Given the description of an element on the screen output the (x, y) to click on. 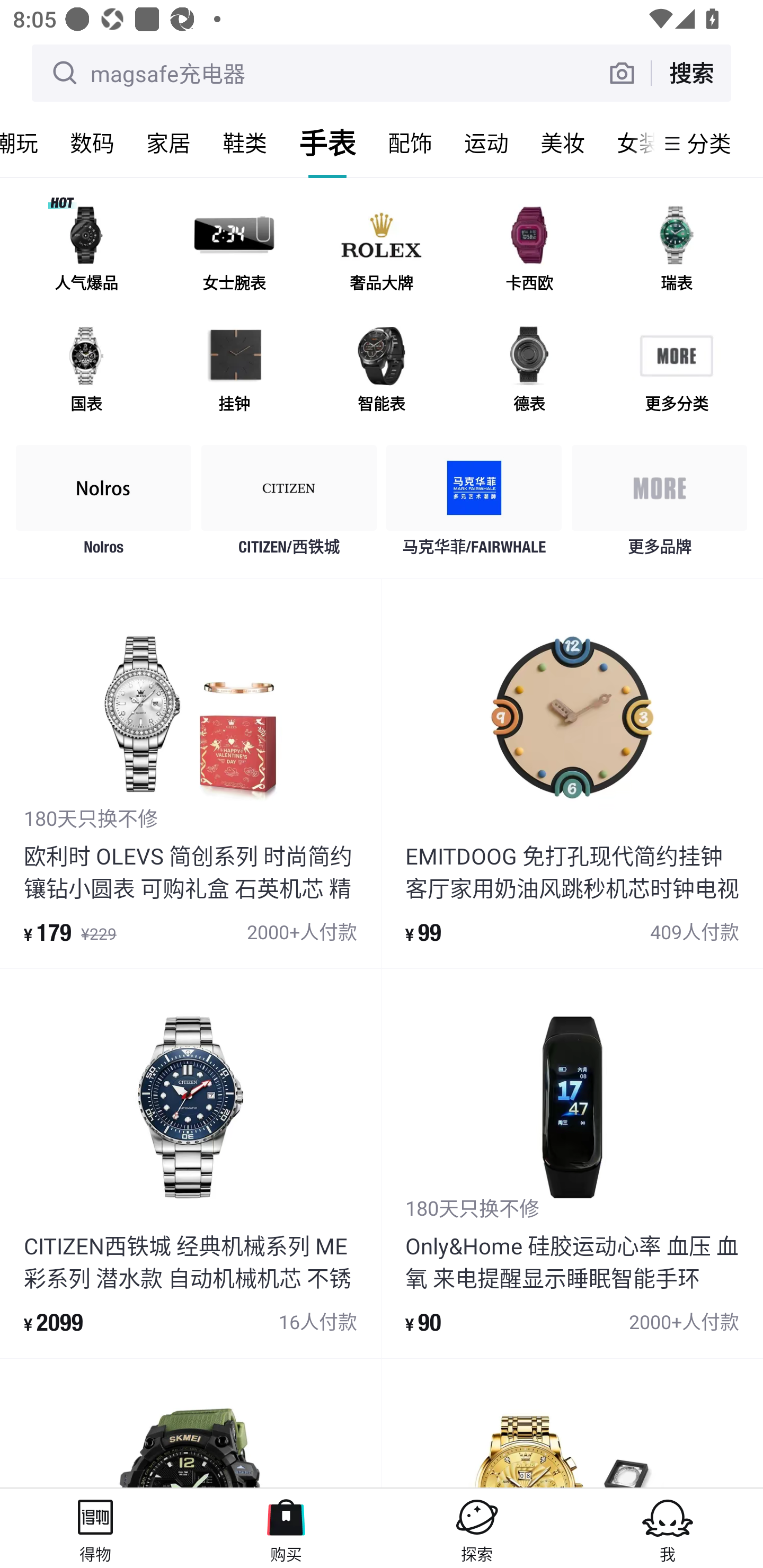
搜索 (690, 72)
潮玩 (27, 143)
数码 (92, 143)
家居 (168, 143)
鞋类 (244, 143)
手表 (327, 143)
配饰 (410, 143)
运动 (486, 143)
美妆 (562, 143)
女装 (627, 143)
分类 (708, 143)
人气爆品 (86, 251)
女士腕表 (233, 251)
奢品大牌 (381, 251)
卡西欧 (528, 251)
瑞表 (676, 251)
国表 (86, 372)
挂钟 (233, 372)
智能表 (381, 372)
德表 (528, 372)
更多分类 (676, 372)
Nolros (103, 505)
CITIZEN/西铁城 (288, 505)
马克华菲/FAIRWHALE (473, 505)
更多品牌 (658, 505)
得物 (95, 1528)
购买 (285, 1528)
探索 (476, 1528)
我 (667, 1528)
